Given the description of an element on the screen output the (x, y) to click on. 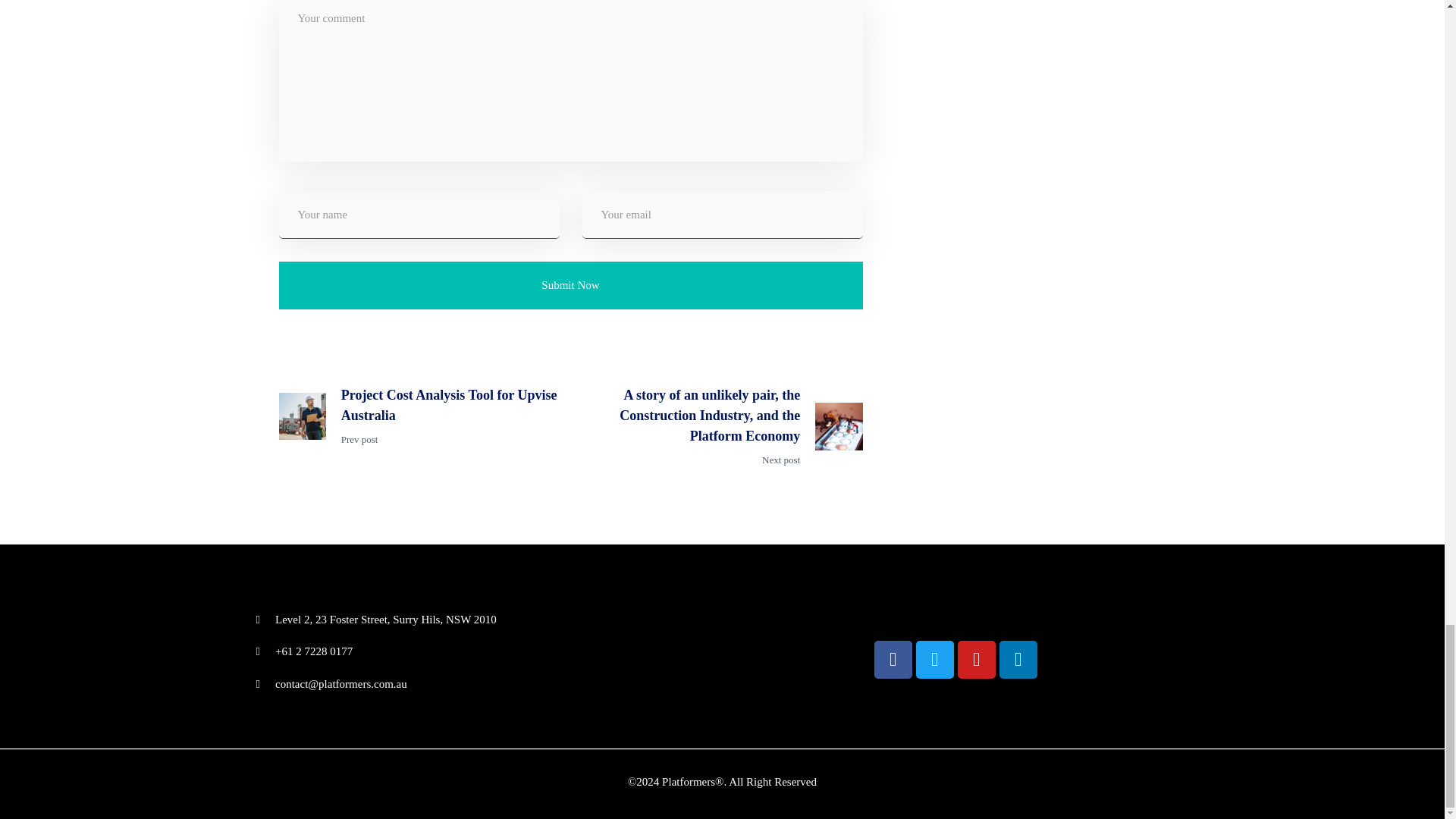
Submit Now (571, 285)
Project Cost Analysis Tool for Upvise Australia (449, 404)
Submit Now (571, 285)
